Given the description of an element on the screen output the (x, y) to click on. 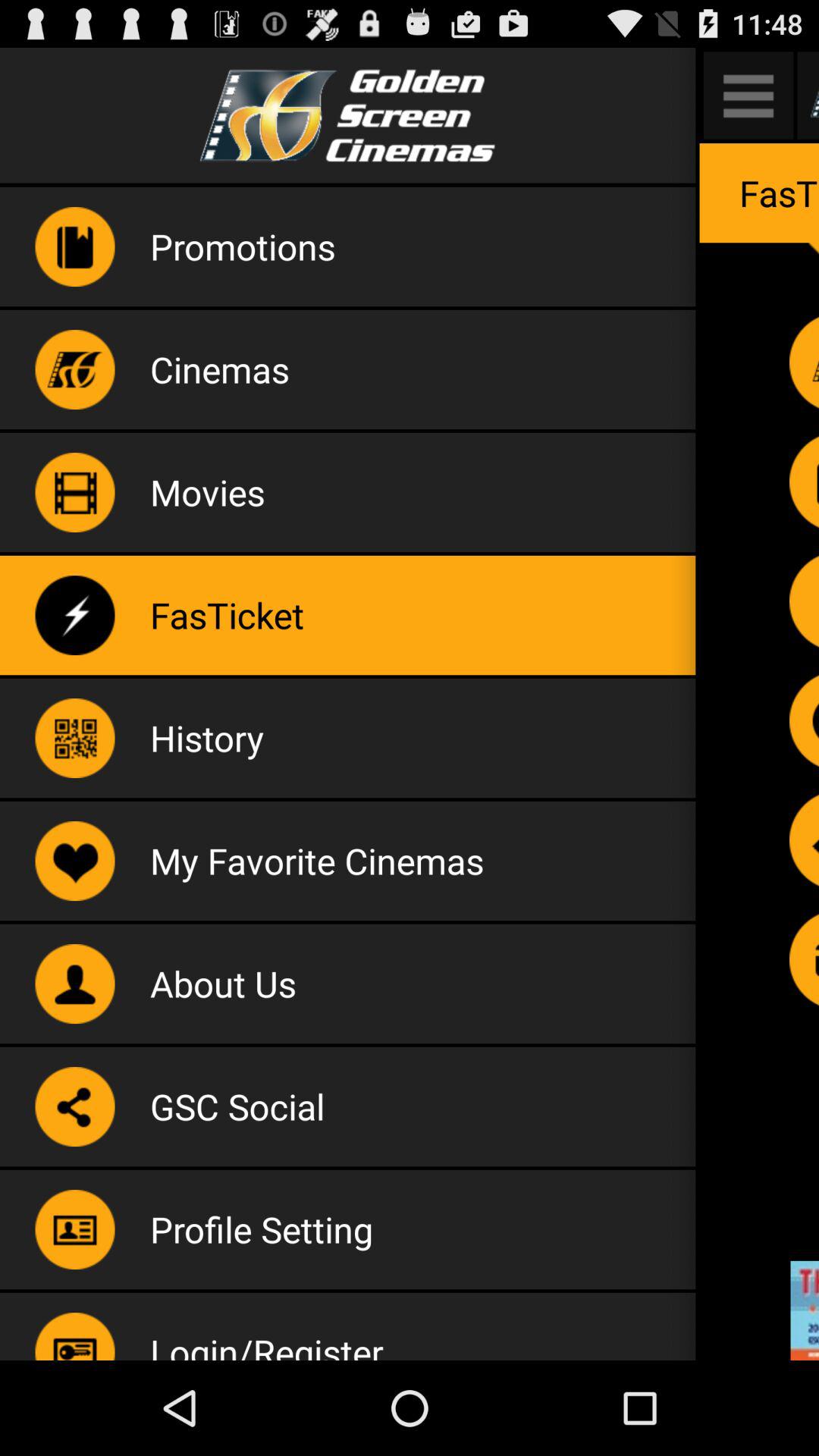
advertisement option (804, 1310)
